Given the description of an element on the screen output the (x, y) to click on. 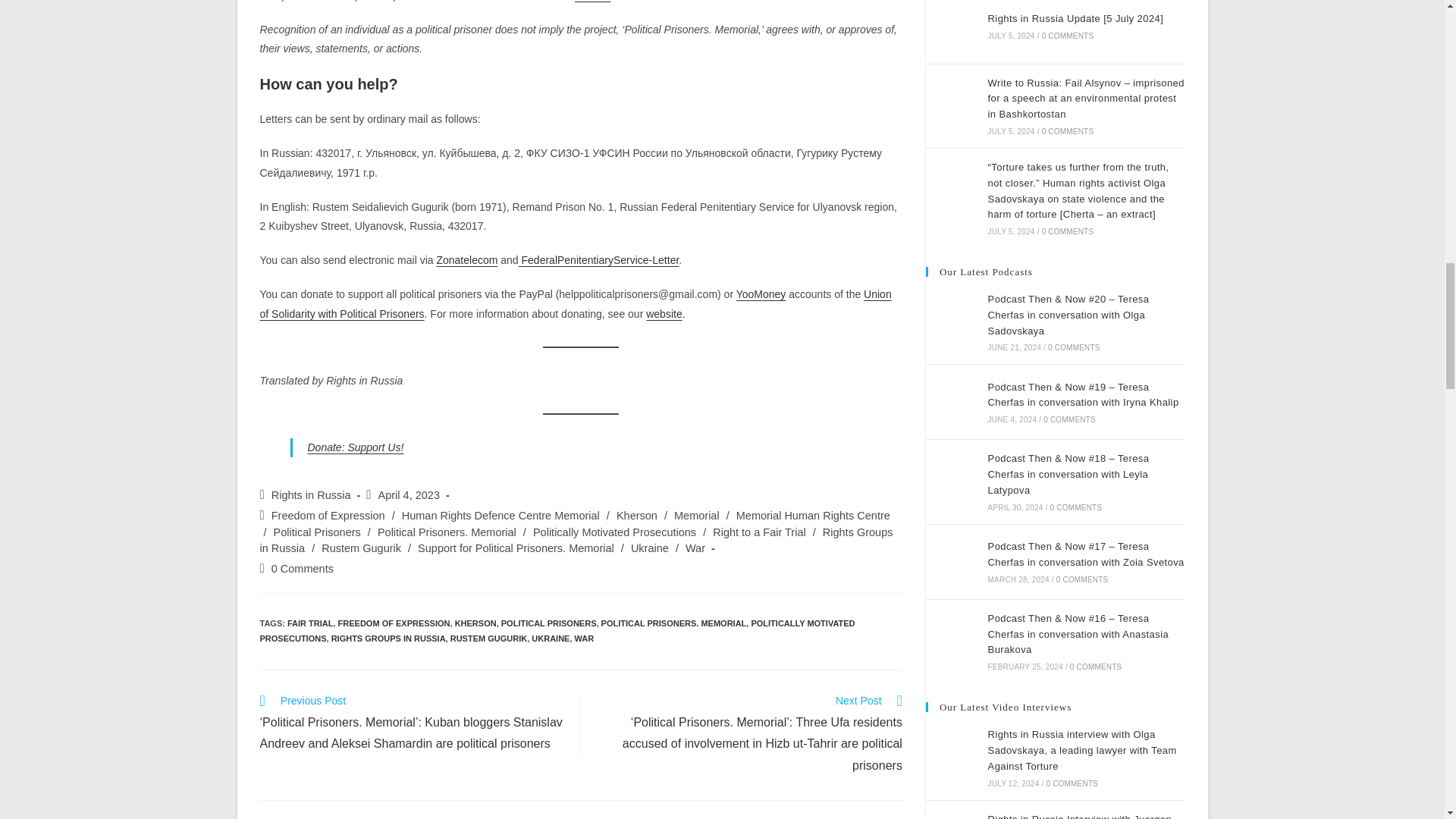
FederalPenitentiaryService-Letter (598, 259)
website (663, 313)
Donate: Support Us! (355, 447)
website (592, 0)
YooMoney (761, 294)
Rights in Russia (310, 494)
Posts by Rights in Russia (310, 494)
Zonatelecom (466, 259)
Union of Solidarity with Political Prisoners (575, 303)
Freedom of Expression (327, 515)
